Given the description of an element on the screen output the (x, y) to click on. 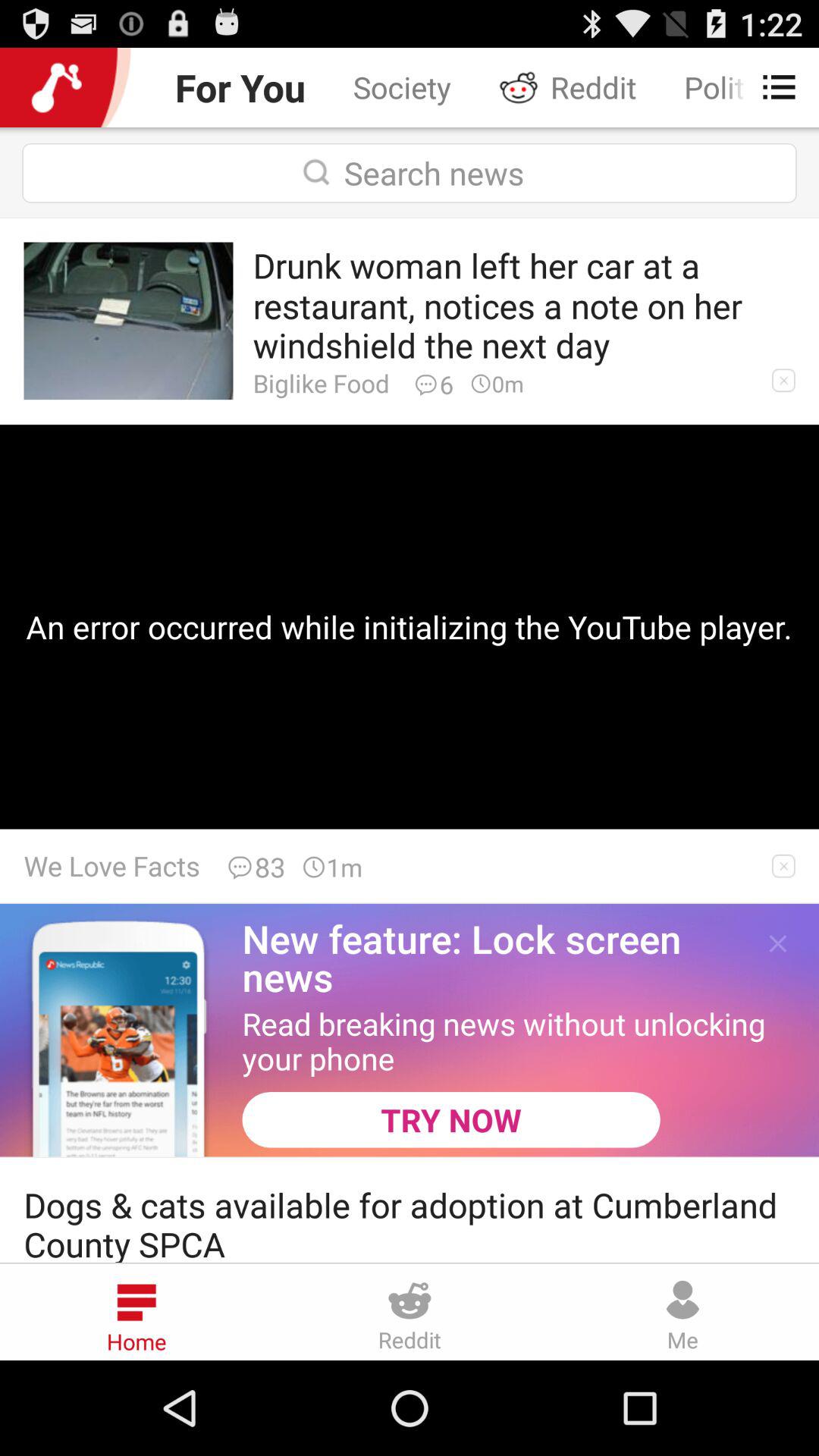
press the society icon (401, 87)
